Given the description of an element on the screen output the (x, y) to click on. 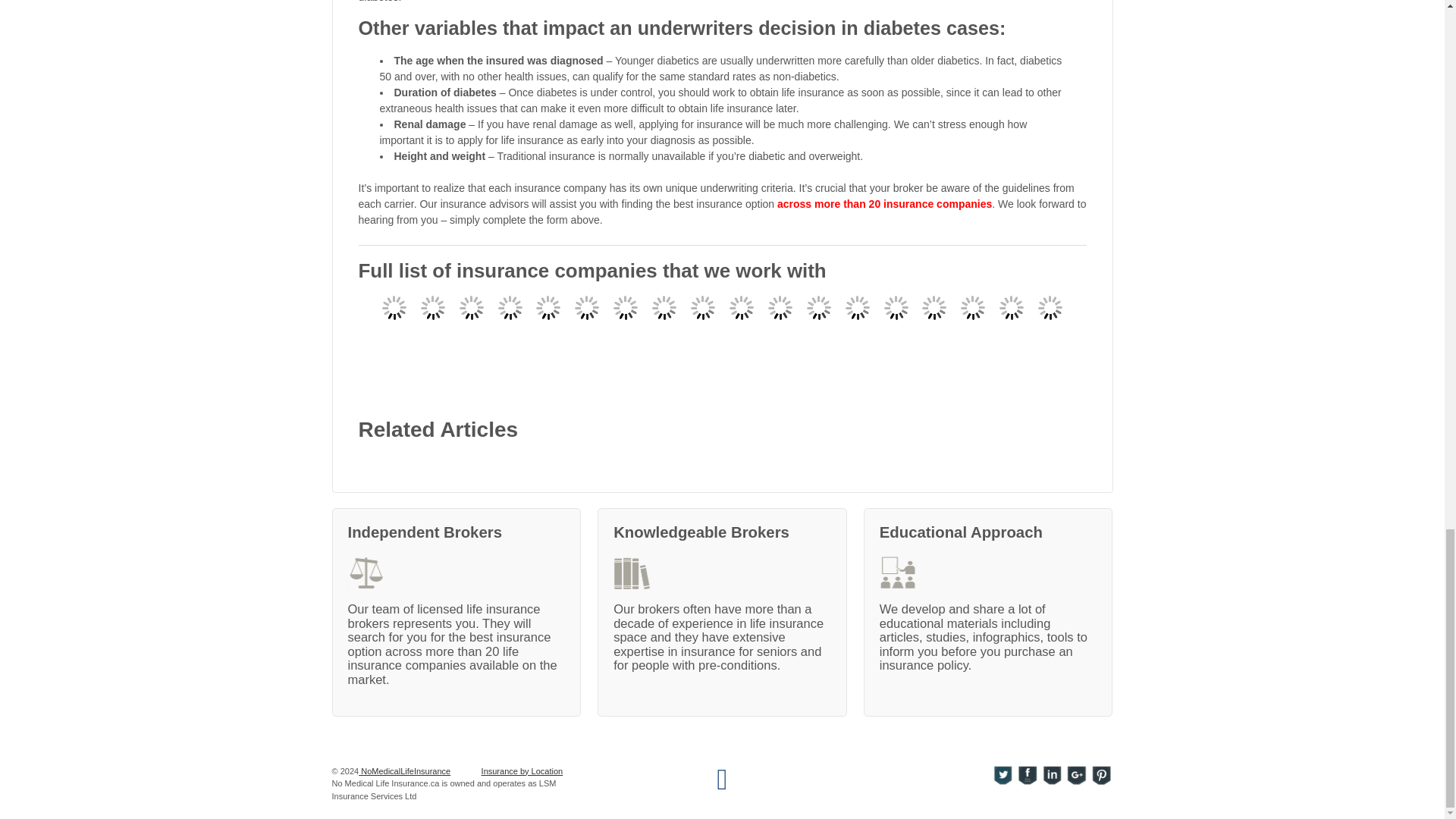
Insurance by Location (522, 771)
NoMedicalLifeInsurance (403, 770)
NoMedicalLifeInsurance (403, 770)
